Given the description of an element on the screen output the (x, y) to click on. 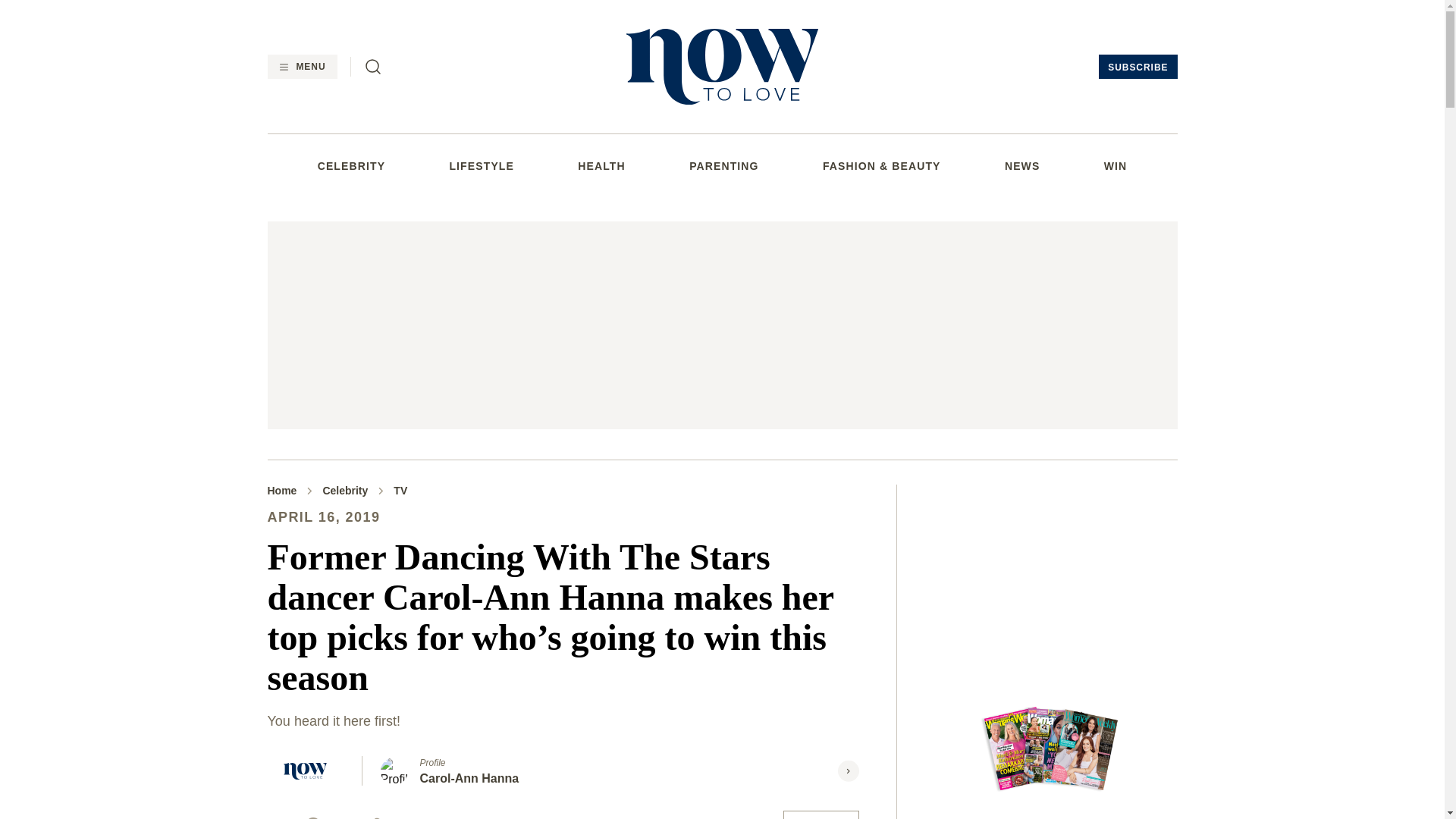
NEWS (1021, 165)
MENU (301, 66)
PARENTING (723, 165)
LIFESTYLE (480, 165)
WIN (1114, 165)
SUBSCRIBE (1137, 66)
HEALTH (601, 165)
CELEBRITY (351, 165)
